Given the description of an element on the screen output the (x, y) to click on. 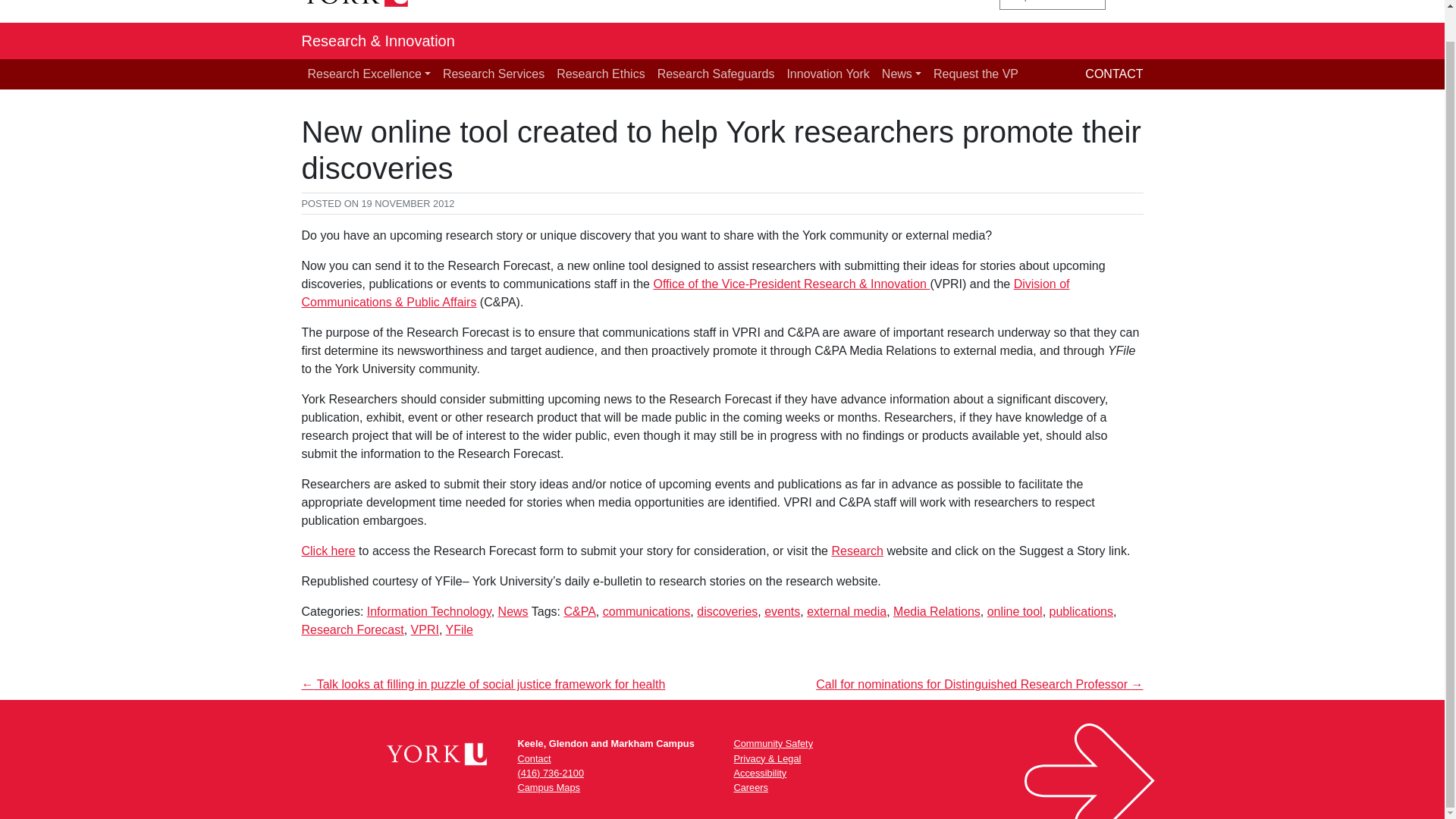
Research Ethics (600, 73)
CONTACT (1113, 73)
external media (846, 611)
News (901, 73)
Click here (328, 550)
Research Safeguards (715, 73)
events (781, 611)
communications (646, 611)
Innovation York (827, 73)
Popular Links (1051, 4)
